Given the description of an element on the screen output the (x, y) to click on. 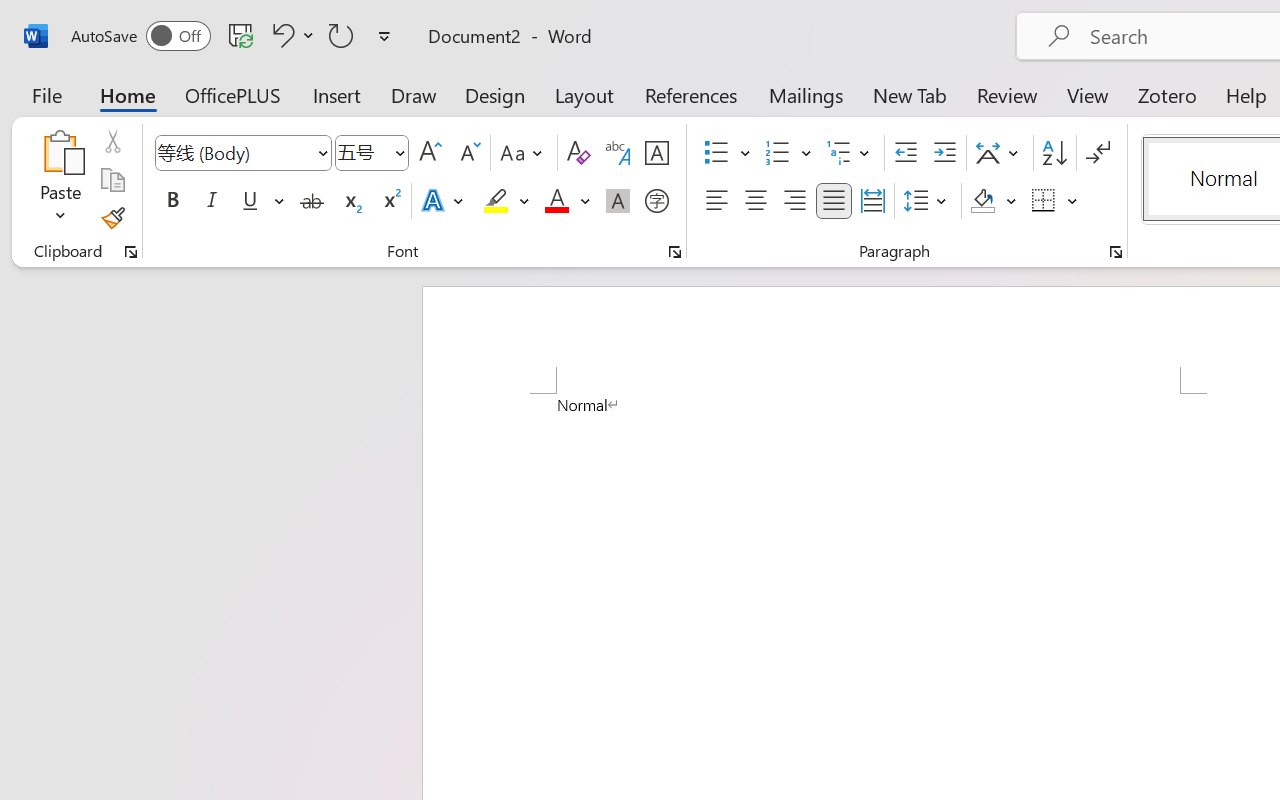
Borders (1055, 201)
Font Color Red (556, 201)
Increase Indent (944, 153)
Save (241, 35)
Home (127, 94)
Align Left (716, 201)
Phonetic Guide... (618, 153)
Subscript (350, 201)
Underline (261, 201)
Show/Hide Editing Marks (1098, 153)
Enclose Characters... (656, 201)
Review (1007, 94)
Align Right (794, 201)
Shading RGB(0, 0, 0) (982, 201)
Grow Font (430, 153)
